Given the description of an element on the screen output the (x, y) to click on. 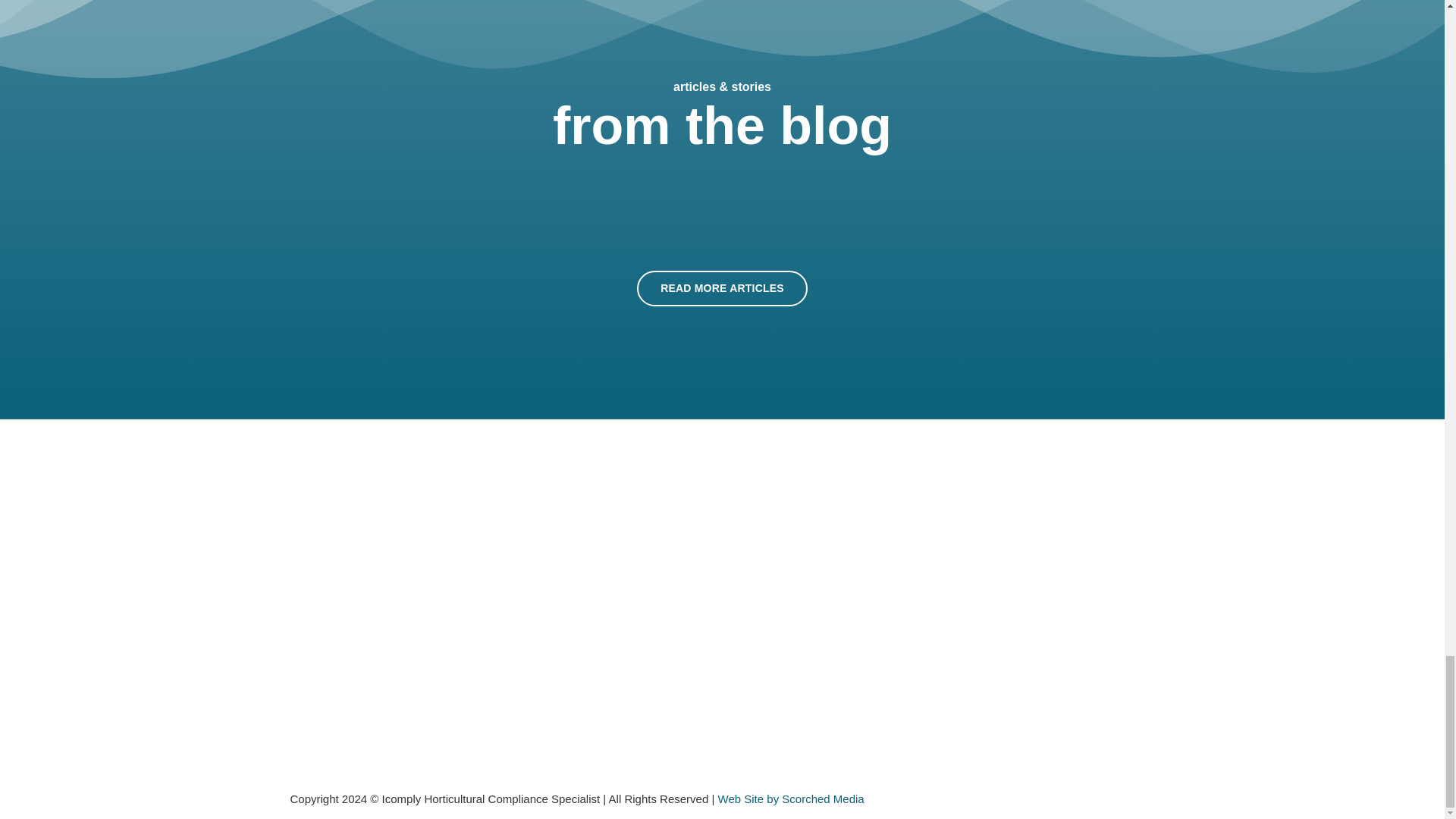
READ MORE ARTICLES (722, 288)
Web Site by Scorched Media (790, 798)
Scorched Media Web Design Brisbane (790, 798)
